Given the description of an element on the screen output the (x, y) to click on. 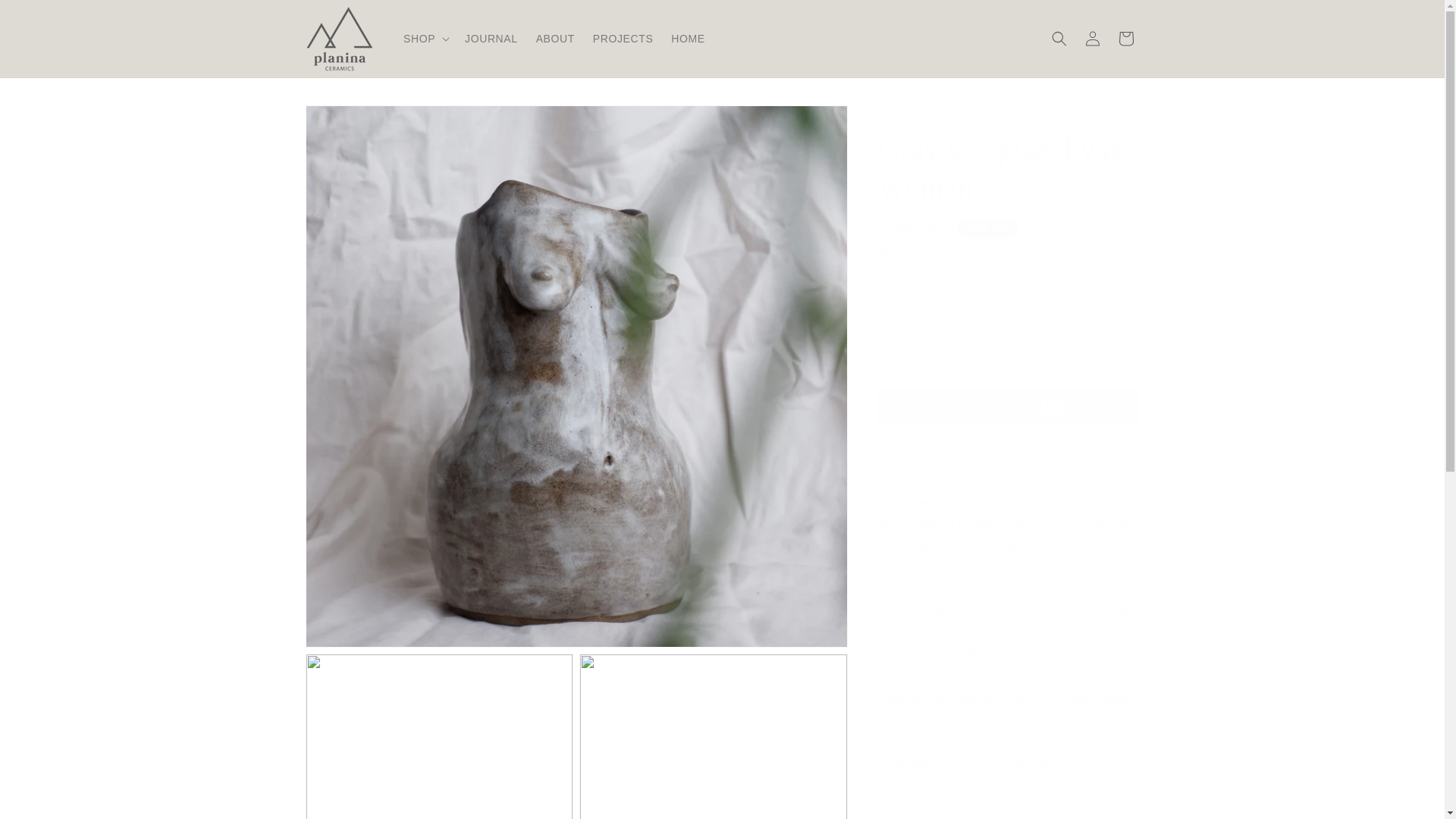
JOURNAL (491, 38)
PROJECTS (622, 38)
Skip to content (45, 17)
Cart (1124, 38)
0 (713, 736)
0 (438, 736)
ABOUT (555, 38)
Skip to product information (350, 122)
1 (931, 308)
